Given the description of an element on the screen output the (x, y) to click on. 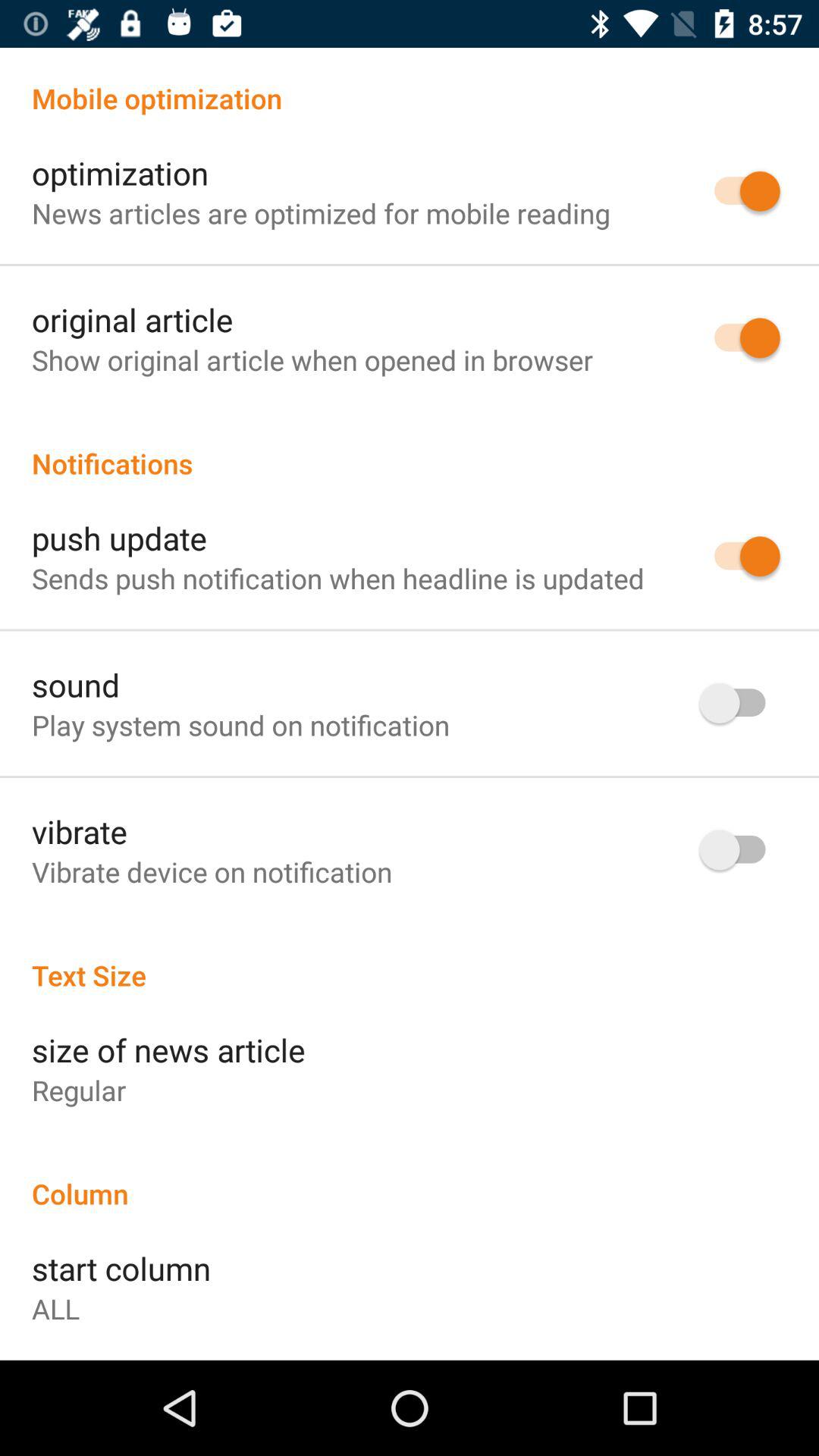
scroll until all item (55, 1308)
